Given the description of an element on the screen output the (x, y) to click on. 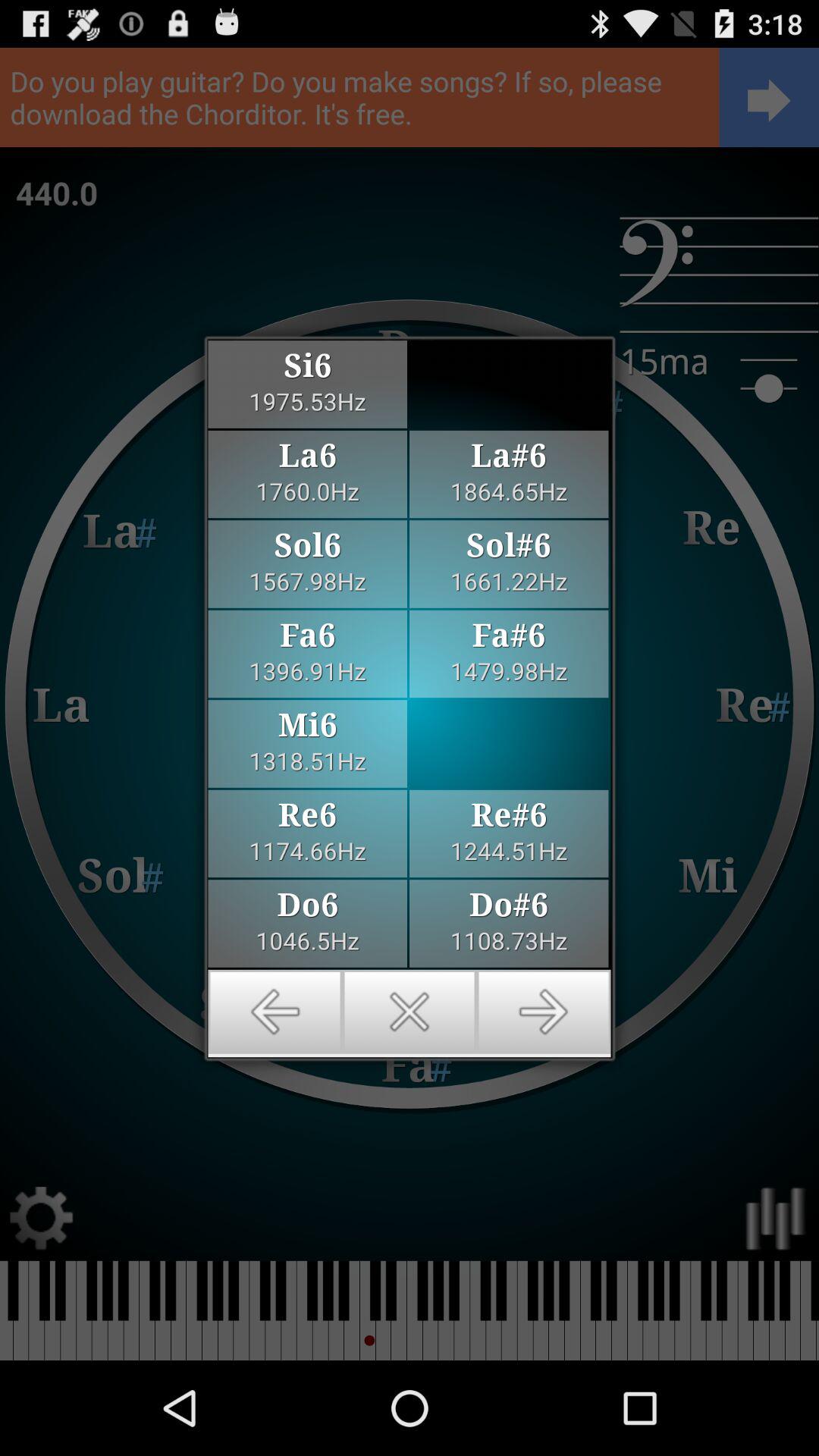
close out (409, 1011)
